Given the description of an element on the screen output the (x, y) to click on. 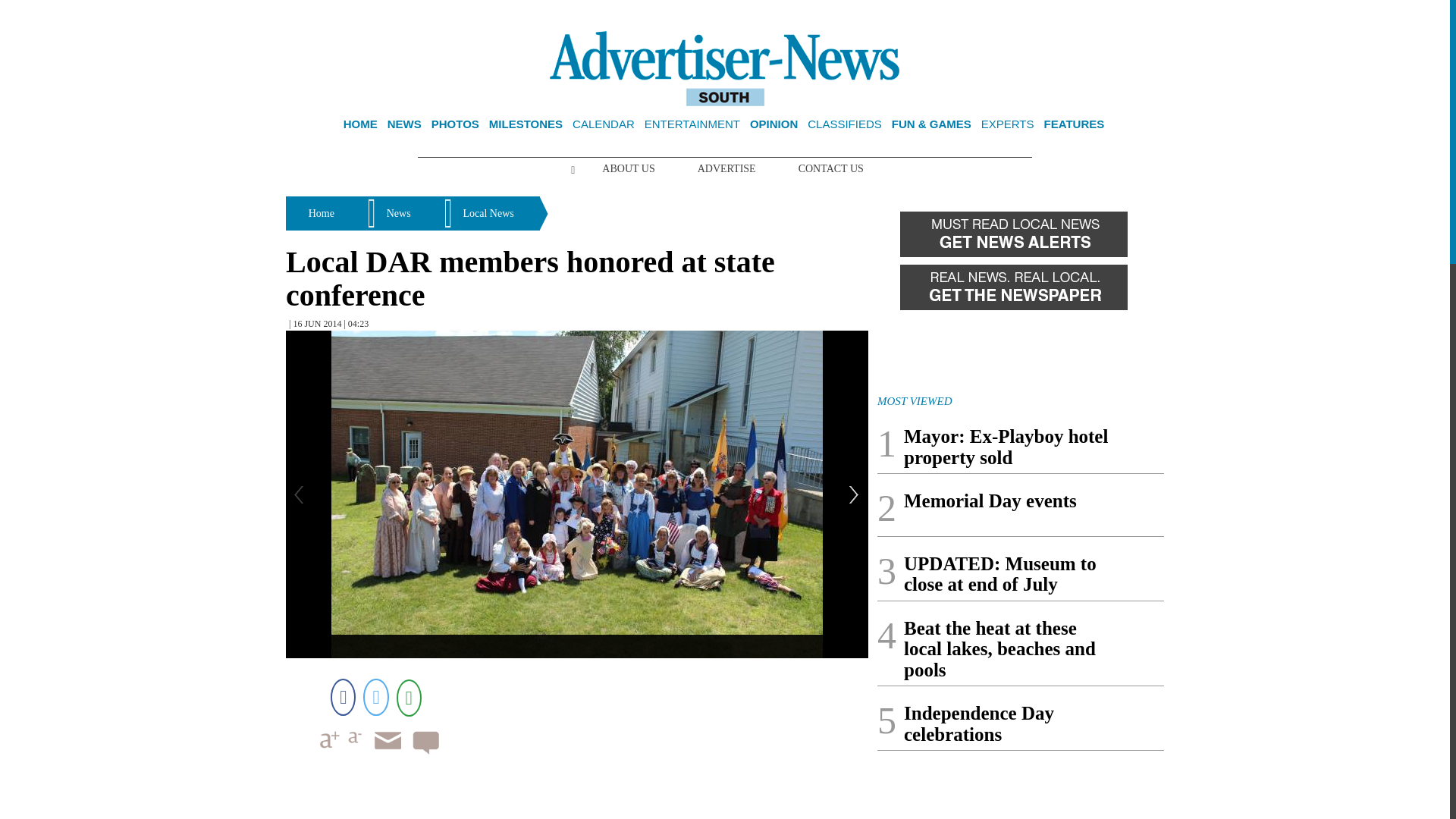
HOME (360, 123)
NEWS (404, 123)
MILESTONES (525, 123)
EXPERTS (1007, 123)
ENTERTAINMENT (692, 123)
CALENDAR (603, 123)
CLASSIFIEDS (845, 123)
FEATURES (1074, 123)
PHOTOS (454, 123)
OPINION (773, 123)
